Given the description of an element on the screen output the (x, y) to click on. 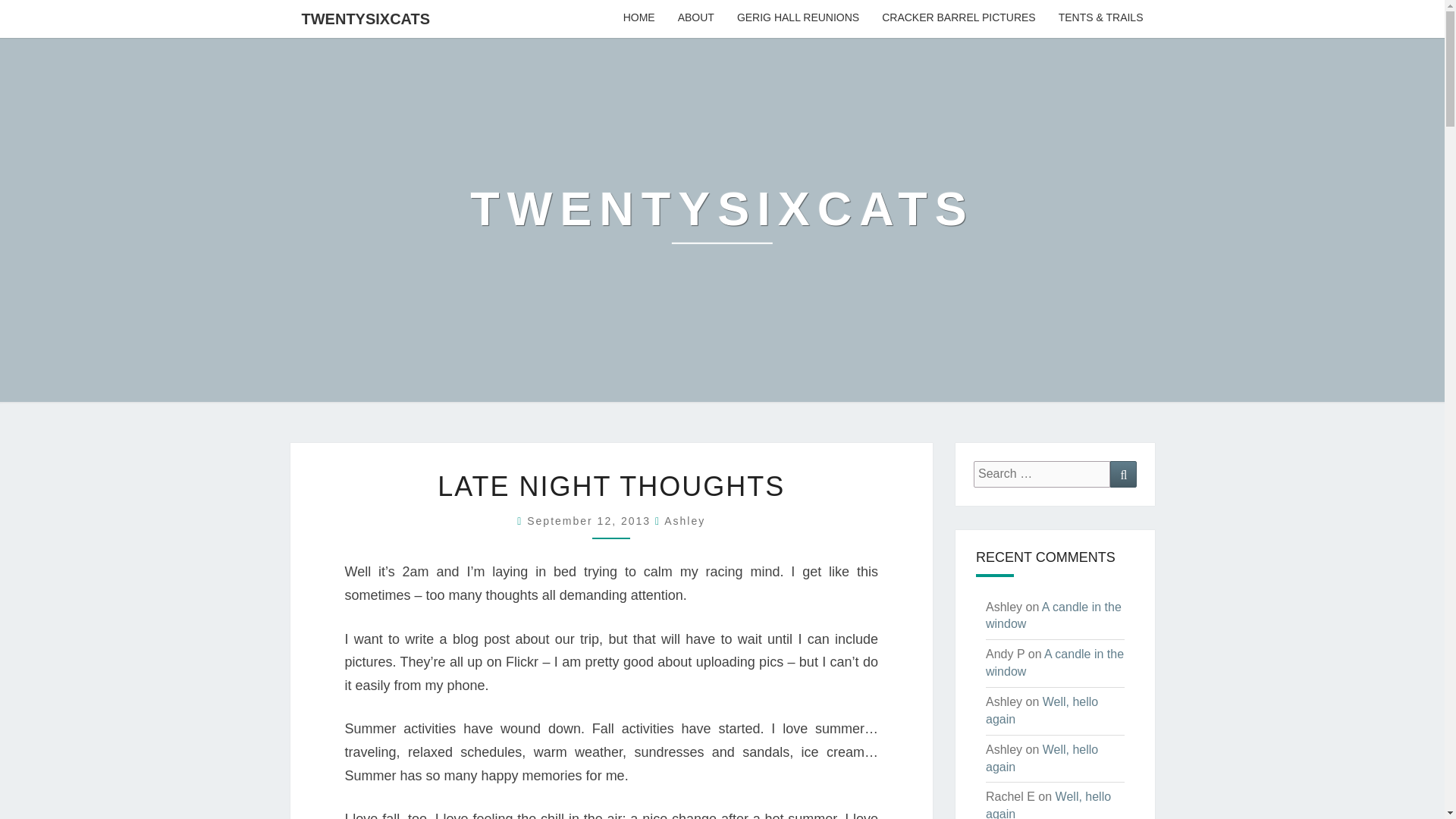
September 12, 2013 (591, 521)
Search (1123, 474)
Ashley (683, 521)
Well, hello again (1041, 710)
Search for: (1041, 474)
TWENTYSIXCATS (722, 219)
A candle in the window (1053, 615)
GERIG HALL REUNIONS (797, 18)
ABOUT (695, 18)
A candle in the window (1054, 662)
HOME (638, 18)
CRACKER BARREL PICTURES (958, 18)
TWENTYSIXCATS (365, 18)
Well, hello again (1047, 804)
Well, hello again (1041, 757)
